Given the description of an element on the screen output the (x, y) to click on. 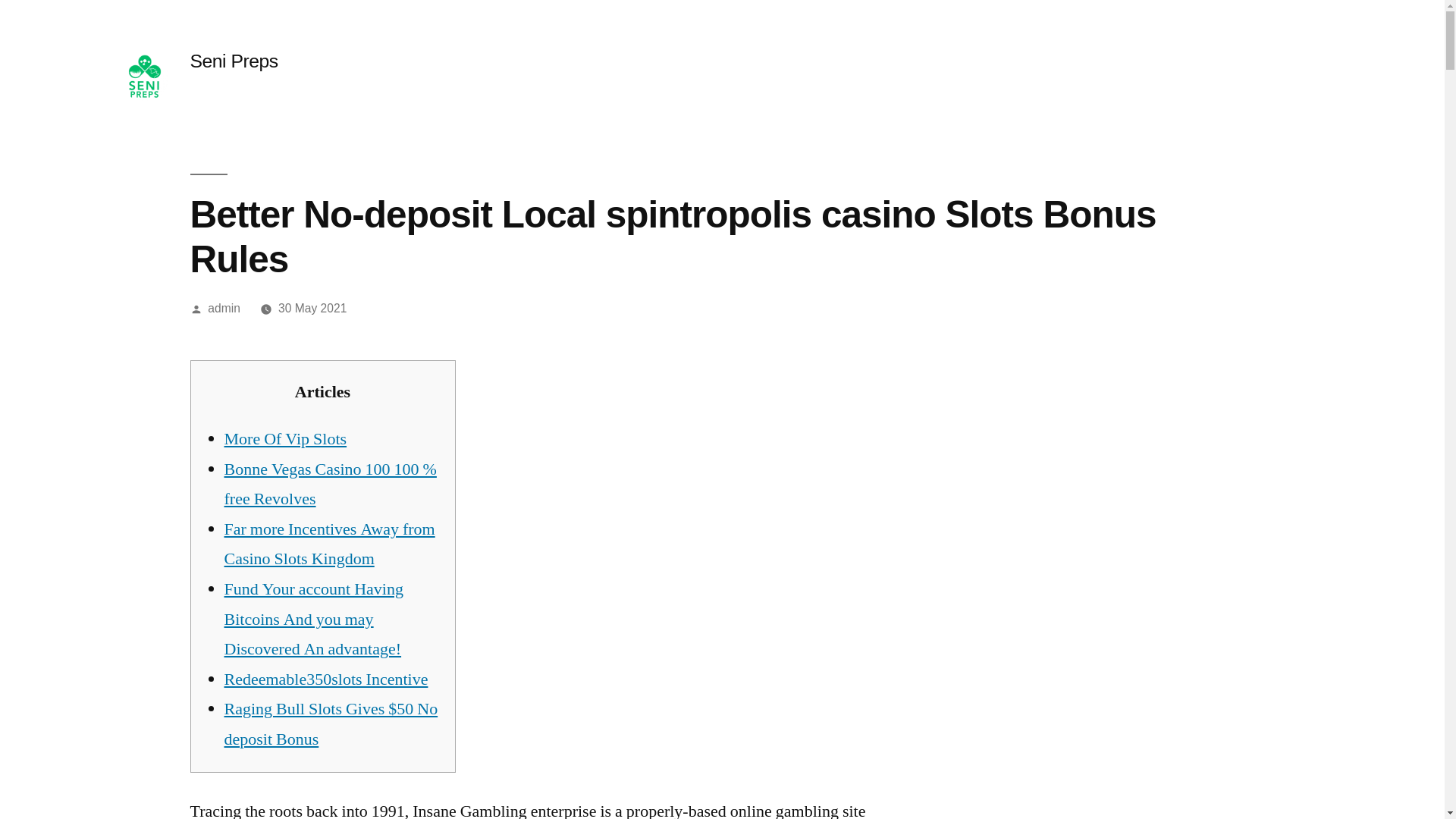
Redeemable350slots Incentive (326, 679)
Seni Preps (233, 60)
Far more Incentives Away from Casino Slots Kingdom (329, 544)
30 May 2021 (312, 308)
More Of Vip Slots (285, 438)
admin (224, 308)
